Given the description of an element on the screen output the (x, y) to click on. 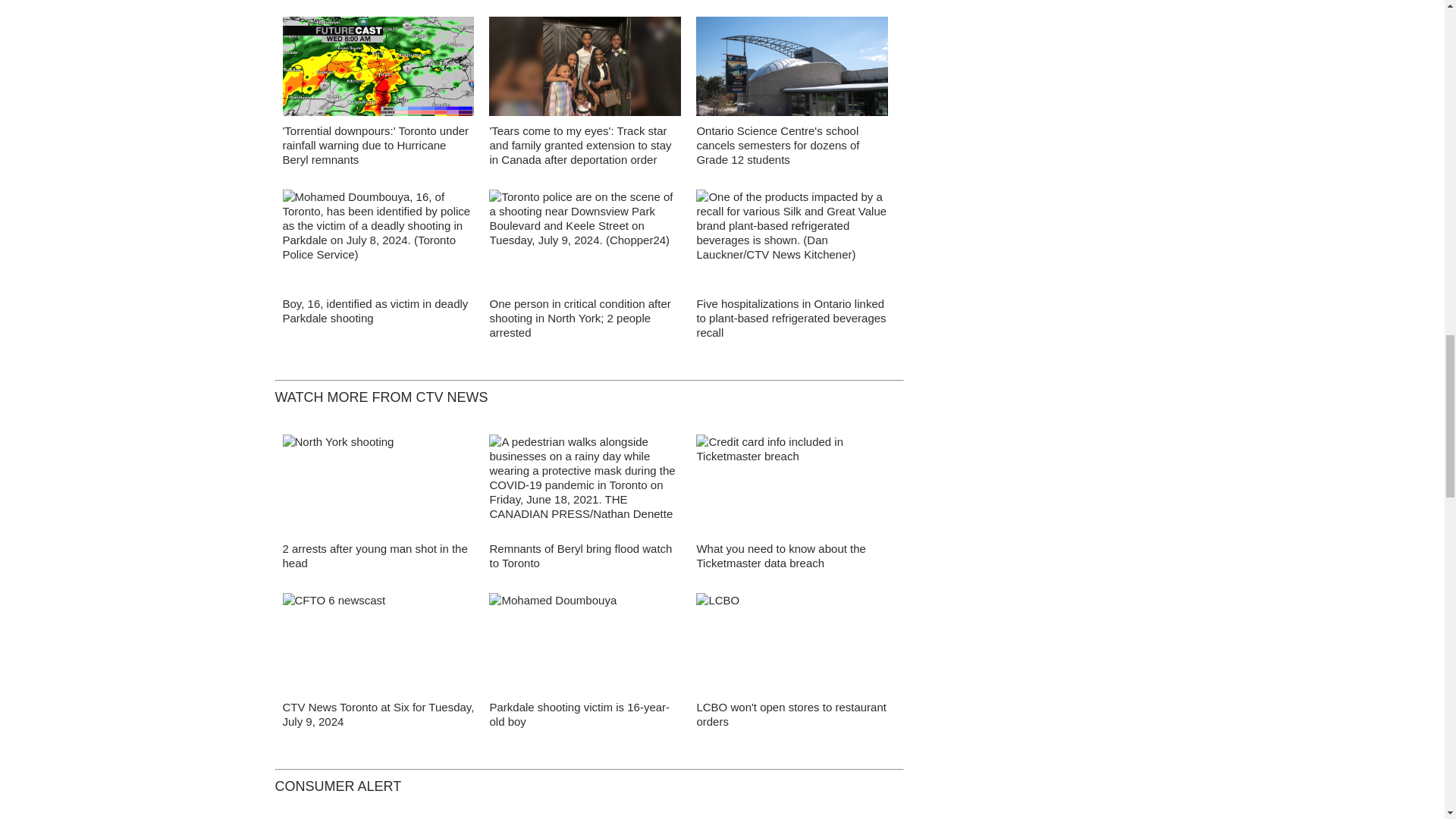
Boy, 16, identified as victim in deadly Parkdale shooting (374, 310)
